Given the description of an element on the screen output the (x, y) to click on. 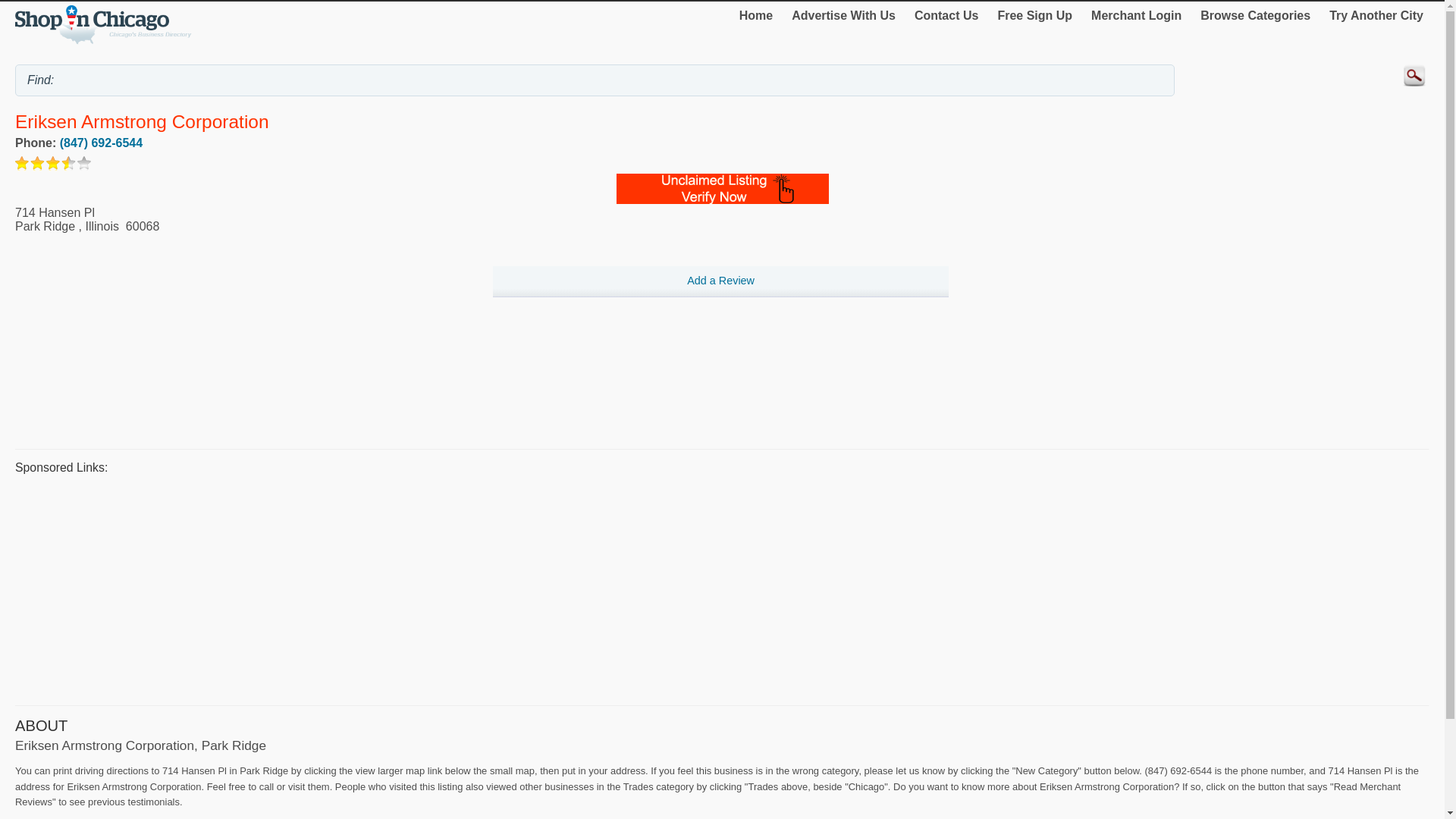
Merchant Login (1136, 15)
Find:  (594, 80)
Browse Categories (1254, 15)
Find:  (594, 80)
Contact Us (946, 15)
Home (755, 15)
Try Another City (1376, 15)
Add a Review (721, 281)
Advertise With Us (843, 15)
Free Sign Up (1034, 15)
